Given the description of an element on the screen output the (x, y) to click on. 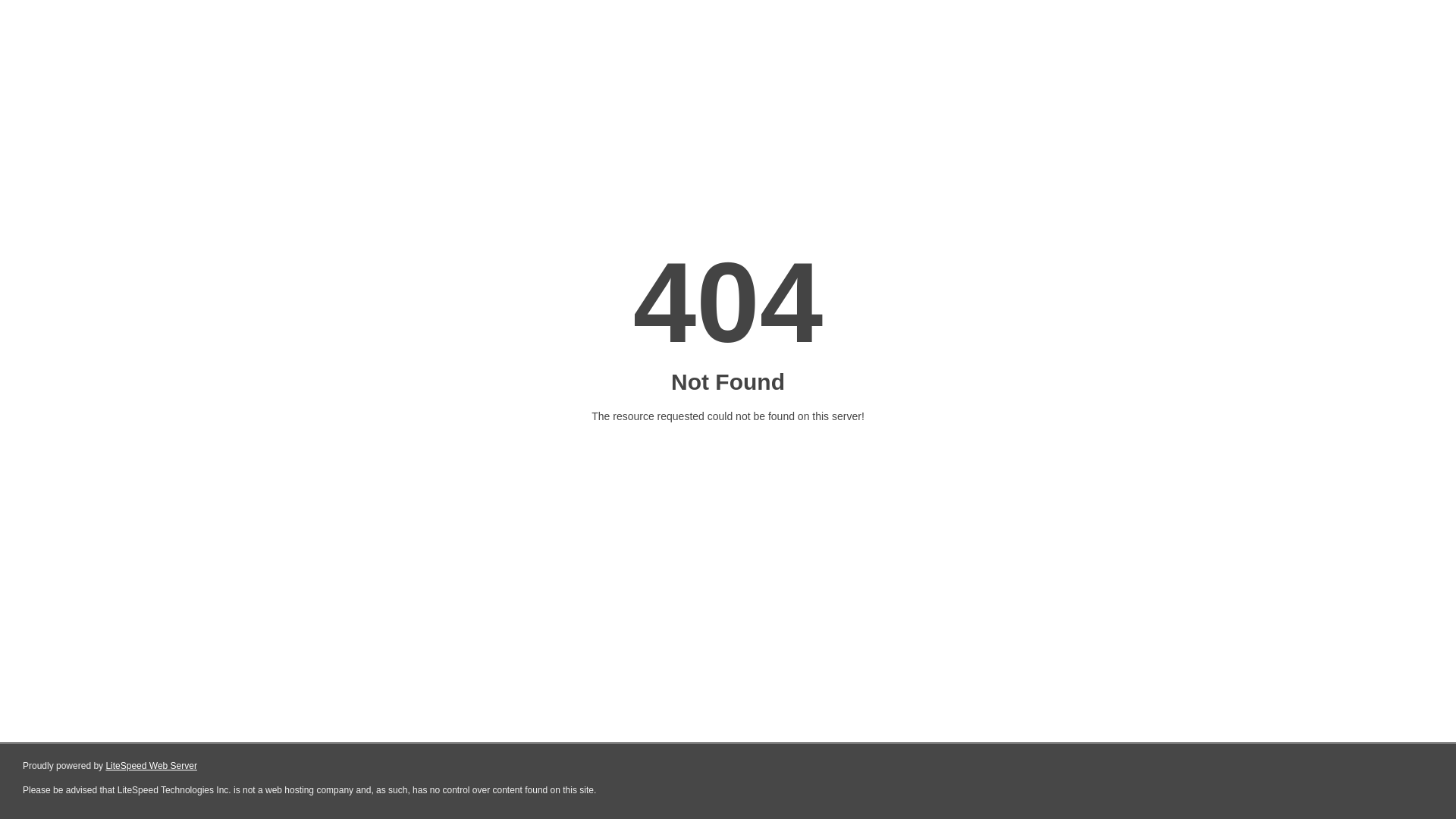
LiteSpeed Web Server Element type: text (151, 765)
